Given the description of an element on the screen output the (x, y) to click on. 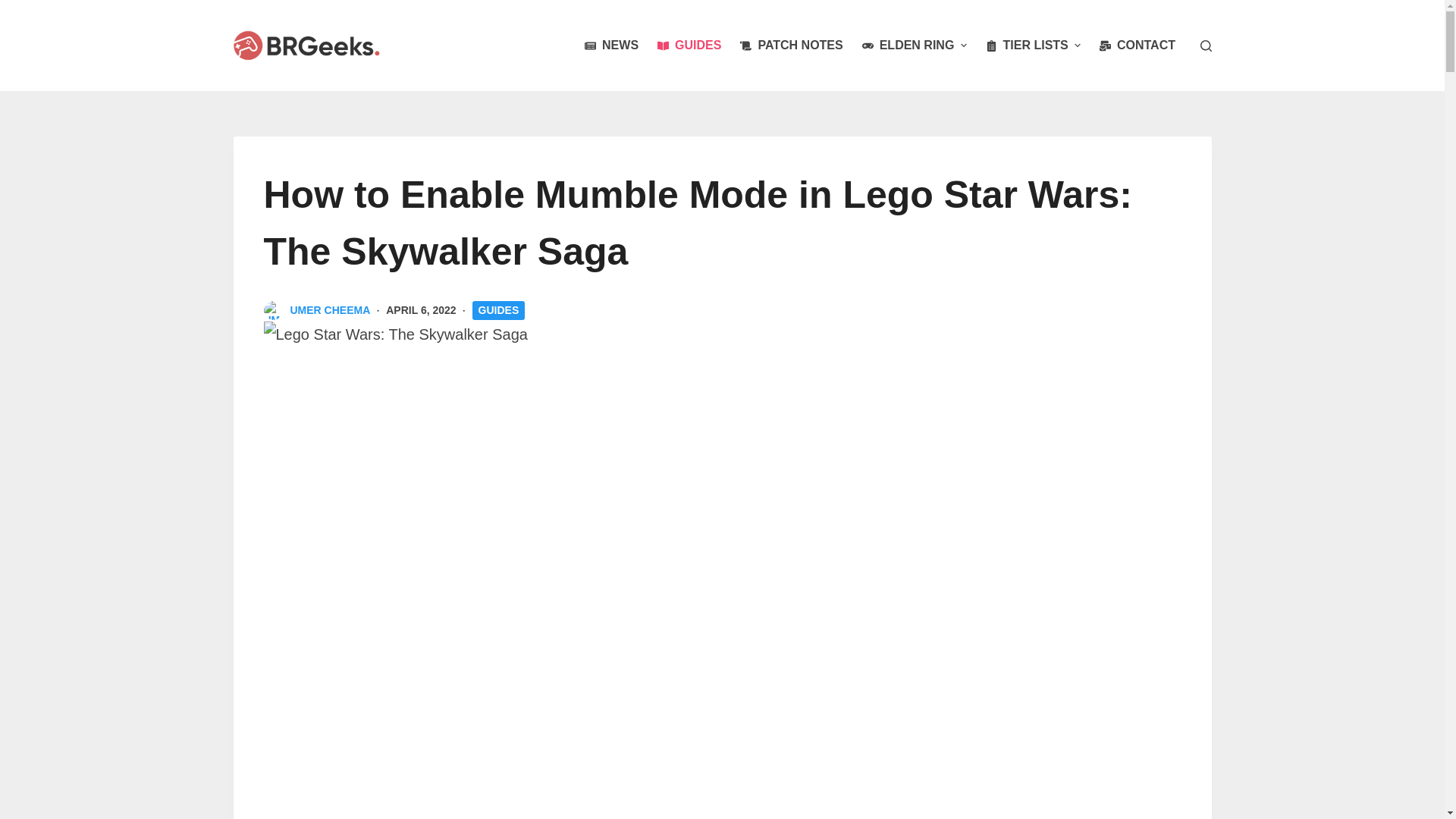
Skip to content (15, 7)
ELDEN RING (913, 45)
GUIDES (688, 45)
Posts by Umer Cheema (329, 309)
PATCH NOTES (790, 45)
